Given the description of an element on the screen output the (x, y) to click on. 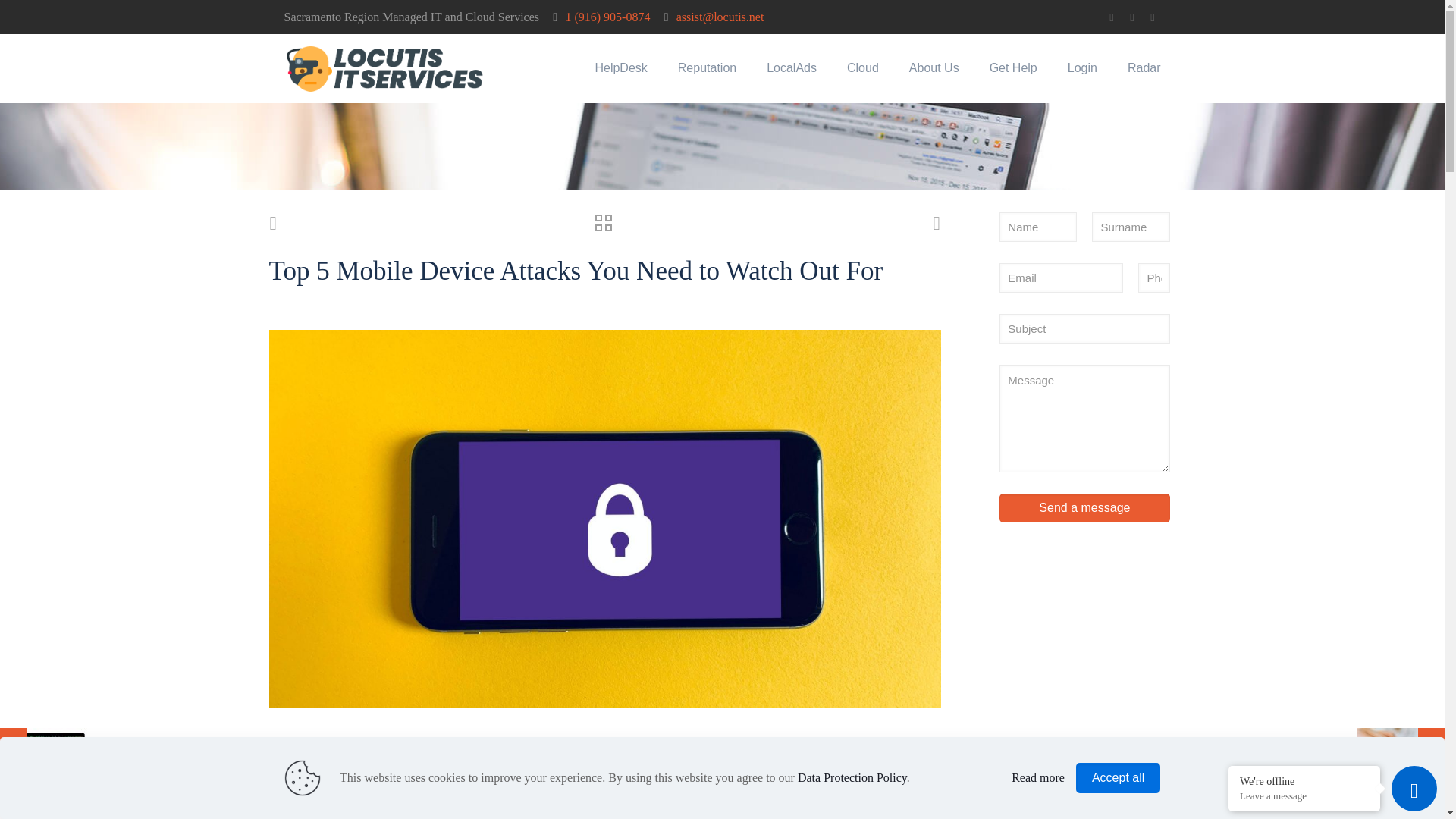
LinkedIn (1152, 17)
HelpDesk (620, 68)
Reputation (706, 68)
Leave a message (1304, 796)
Cloud (862, 68)
Locutis IT Services (384, 68)
We're offline (1304, 780)
LocalAds (791, 68)
YouTube (1132, 17)
Facebook (1111, 17)
Send a message (1083, 507)
